Given the description of an element on the screen output the (x, y) to click on. 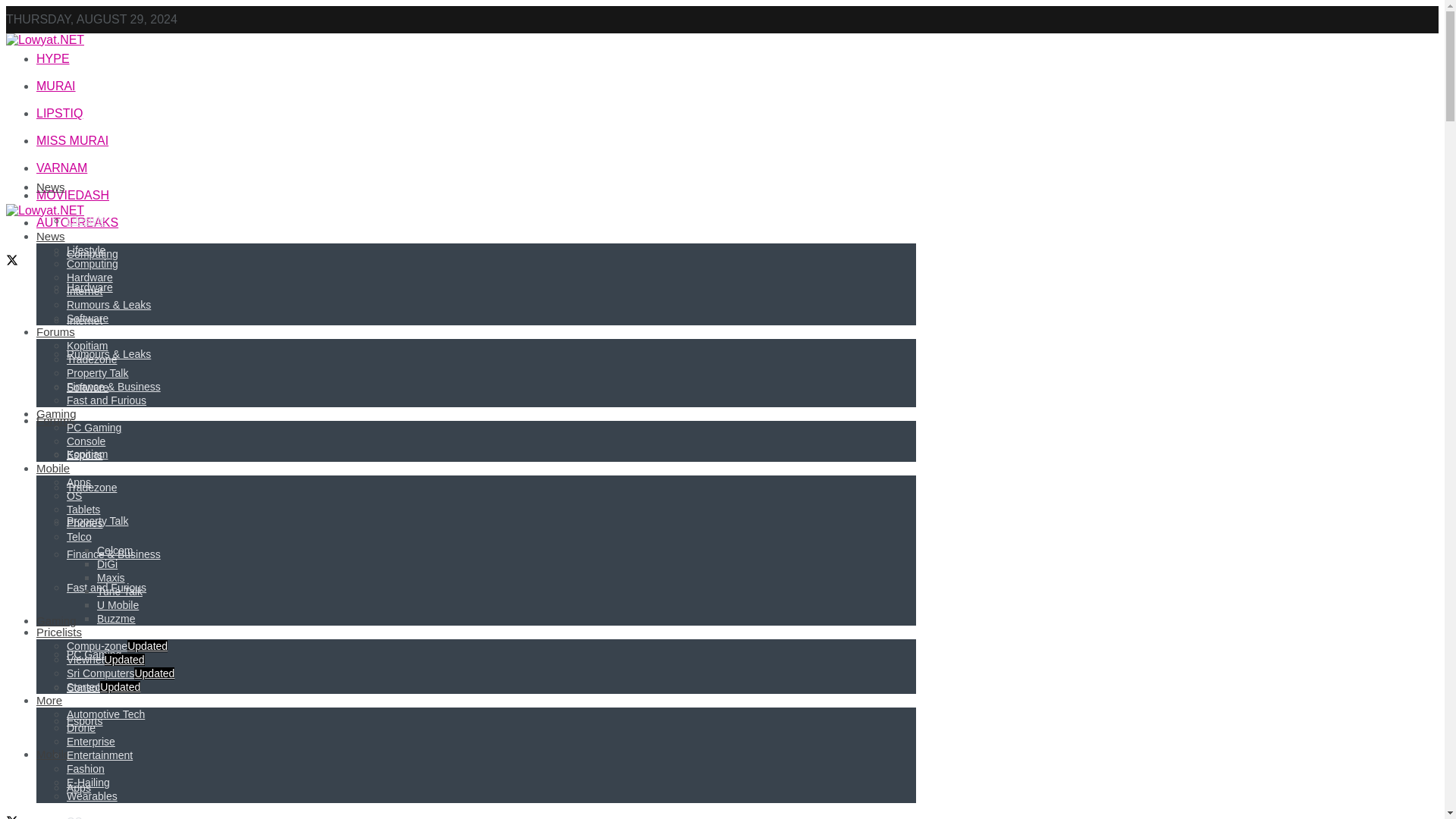
Forums (55, 420)
HYPE (52, 58)
Property Talk (97, 521)
VARNAM (61, 167)
Tradezone (91, 487)
Gaming (56, 620)
Mobile (52, 753)
MISS MURAI (71, 140)
Software (86, 387)
Fast and Furious (106, 587)
